Given the description of an element on the screen output the (x, y) to click on. 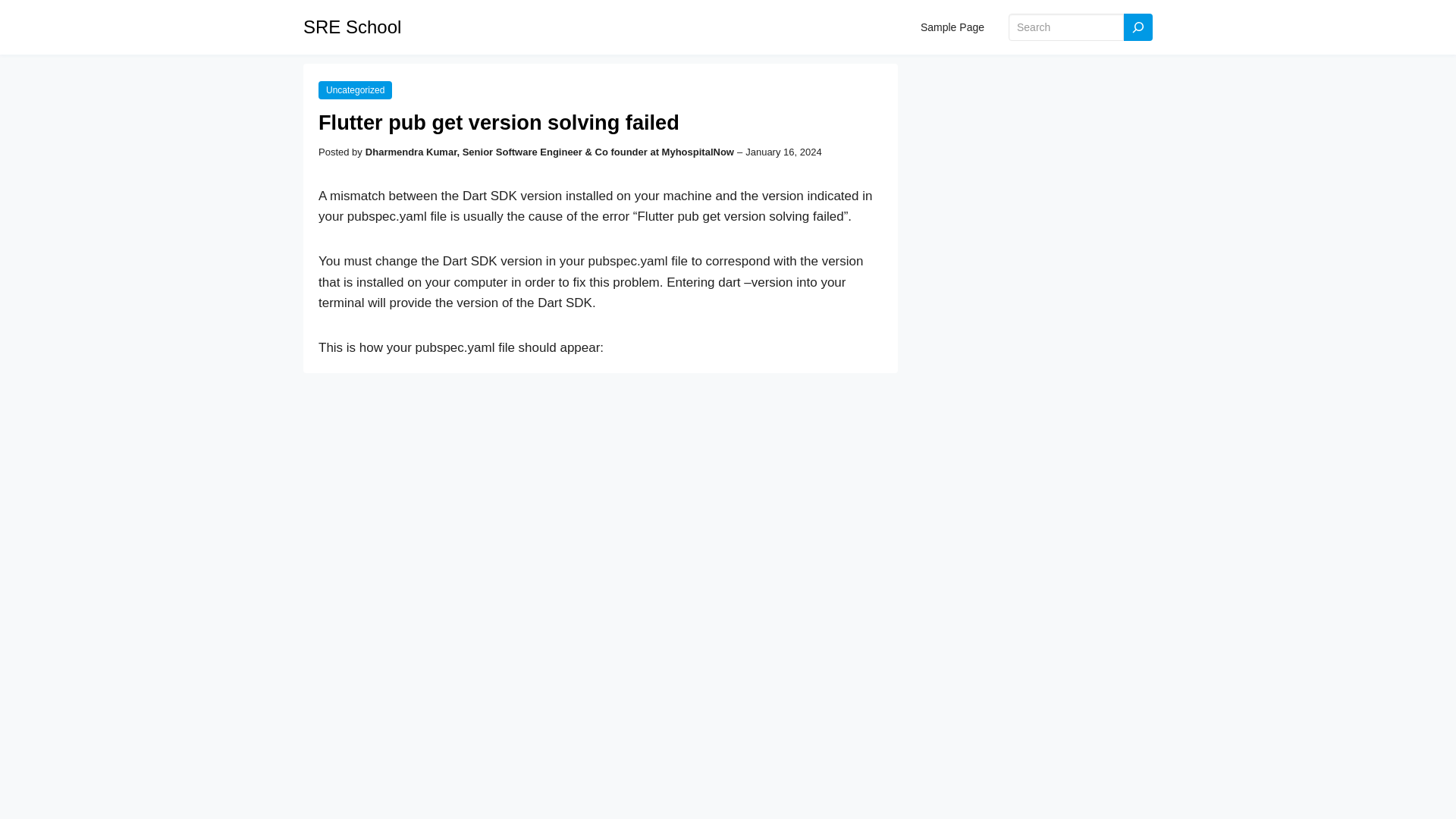
Sample Page (952, 27)
Uncategorized (354, 90)
SRE School (351, 26)
